Given the description of an element on the screen output the (x, y) to click on. 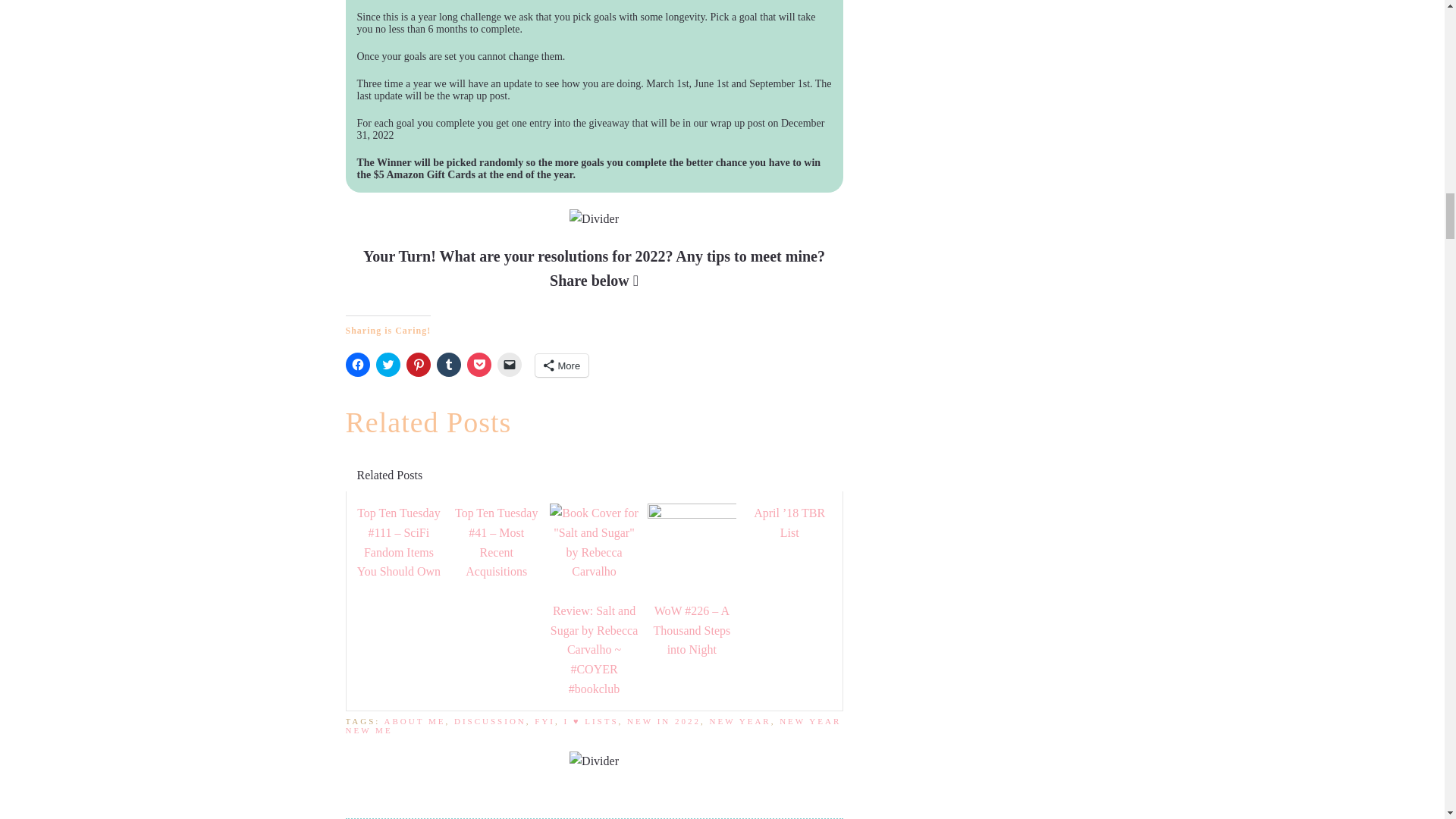
Click to share on Pocket (479, 364)
Click to share on Pinterest (418, 364)
Click to share on Twitter (387, 364)
Click to email a link to a friend (509, 364)
Click to share on Tumblr (448, 364)
Click to share on Facebook (357, 364)
